Given the description of an element on the screen output the (x, y) to click on. 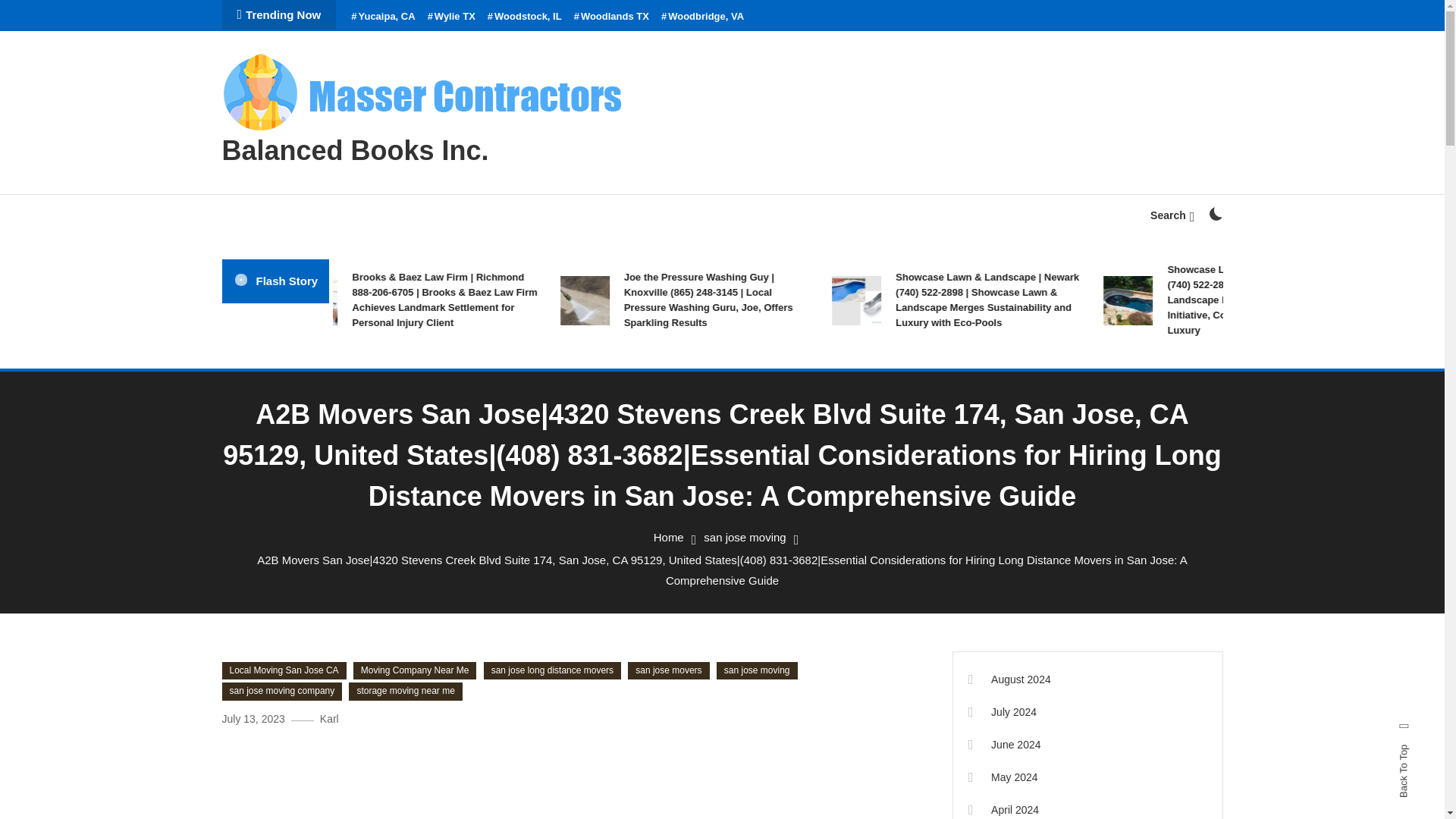
Search (1171, 215)
Wylie TX (452, 16)
Yucaipa, CA (382, 16)
Balanced Books Inc. (354, 150)
on (1215, 213)
san jose long distance movers (552, 670)
storage moving near me (405, 691)
san jose moving (756, 670)
Local Moving San Jose CA (283, 670)
Woodbridge, VA (702, 16)
